Given the description of an element on the screen output the (x, y) to click on. 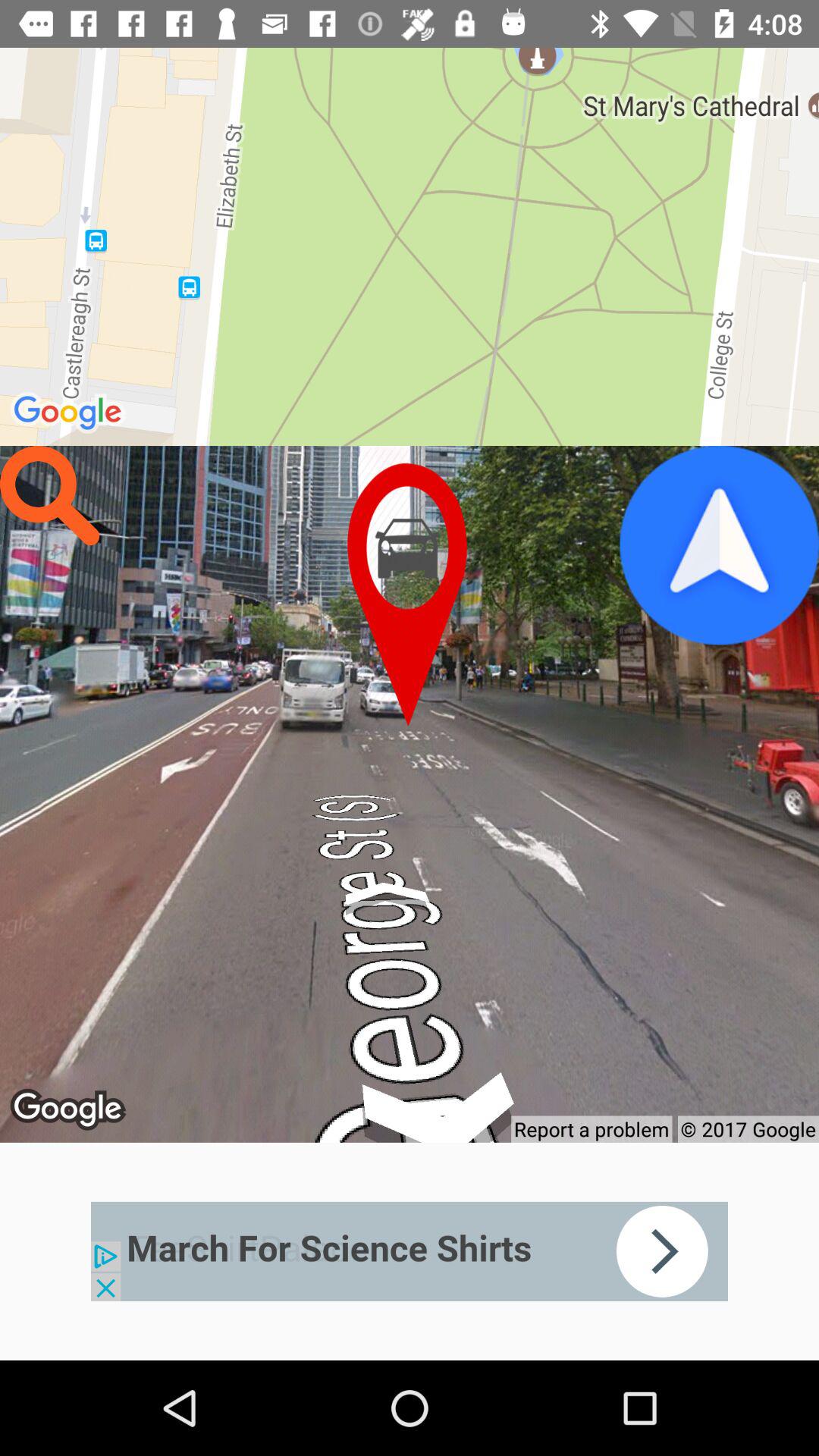
toggle start navigation (719, 544)
